Given the description of an element on the screen output the (x, y) to click on. 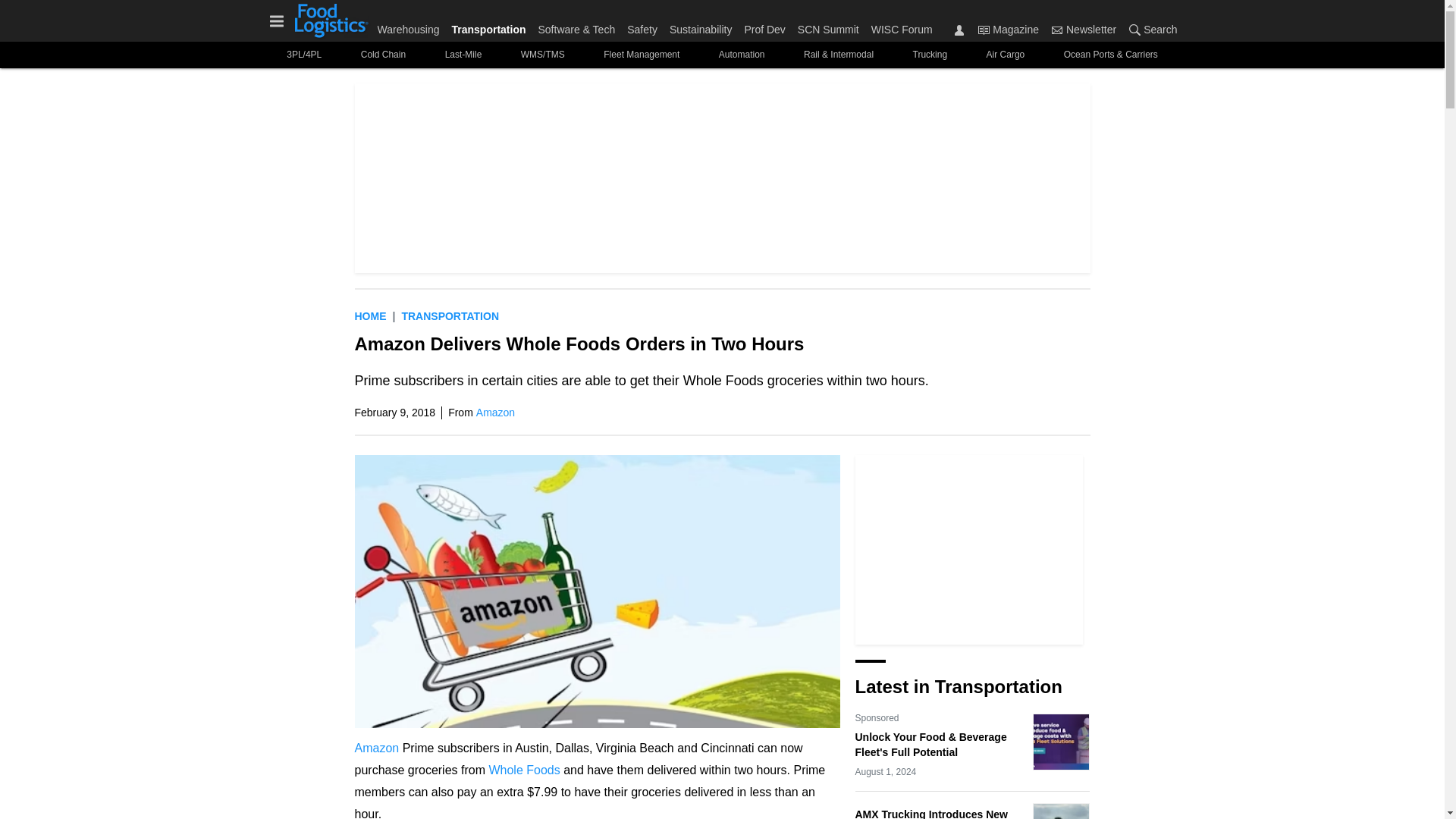
Sign In (959, 29)
Magazine (1008, 29)
3rd party ad content (969, 549)
Prof Dev (764, 26)
SCN Summit (828, 26)
Warehousing (411, 26)
Trucking (929, 54)
Transportation (488, 26)
Automation (740, 54)
Transportation (450, 316)
